Given the description of an element on the screen output the (x, y) to click on. 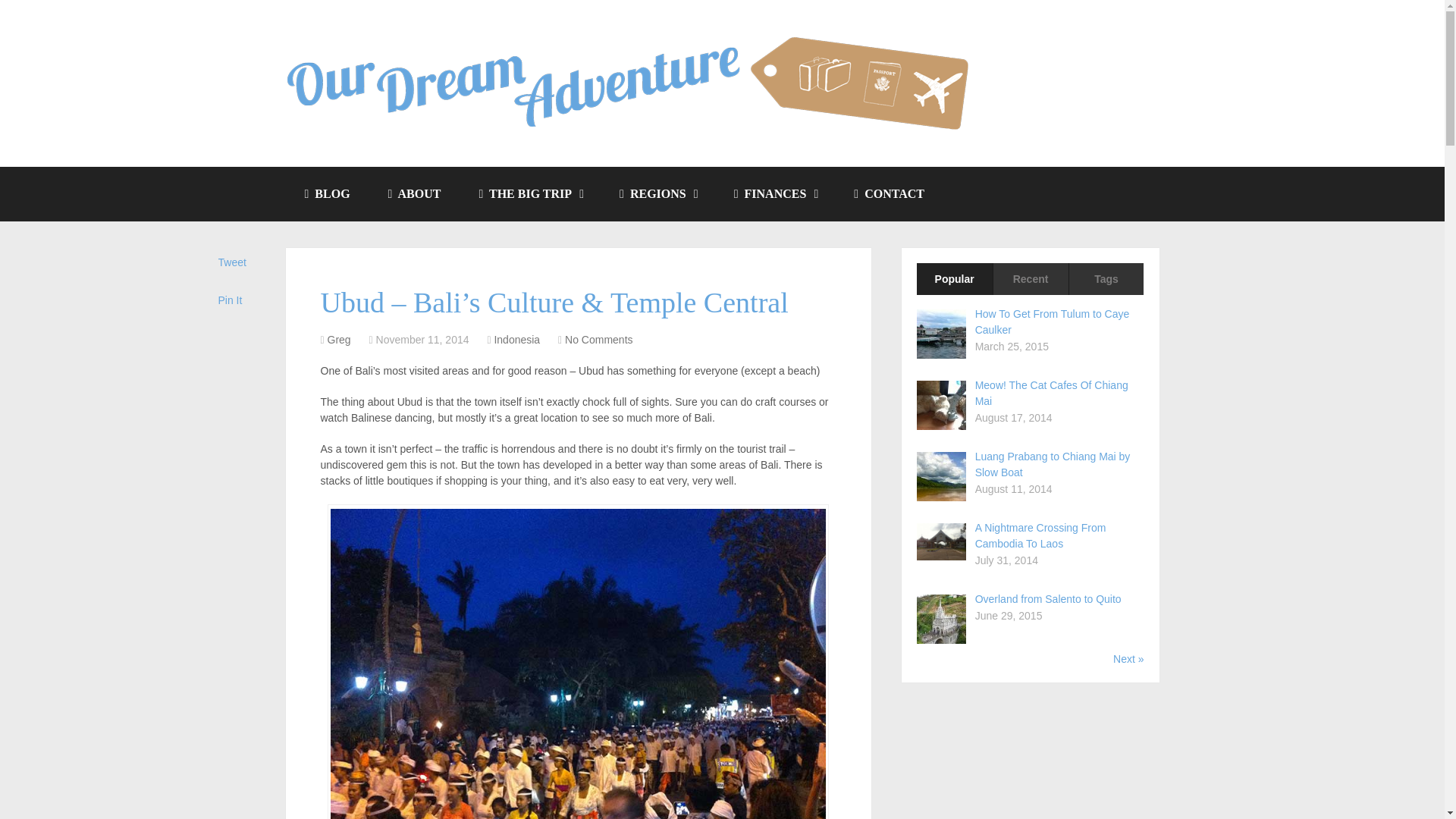
THE BIG TRIP (529, 194)
View all posts in Indonesia (516, 339)
How To Get From Tulum to Caye Caulker (1052, 321)
ABOUT (414, 194)
REGIONS (656, 194)
Posts by Greg (338, 339)
BLOG (326, 194)
